Given the description of an element on the screen output the (x, y) to click on. 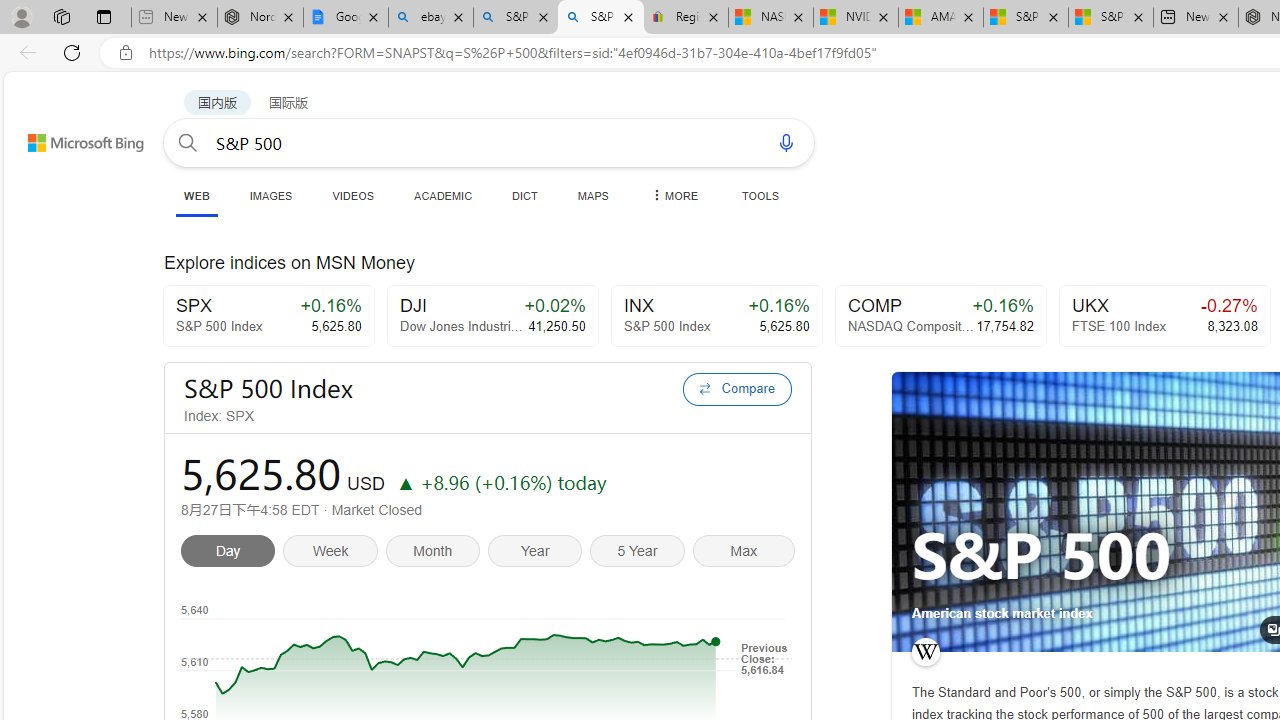
IMAGES (270, 195)
S&P 500 (1041, 556)
